Given the description of an element on the screen output the (x, y) to click on. 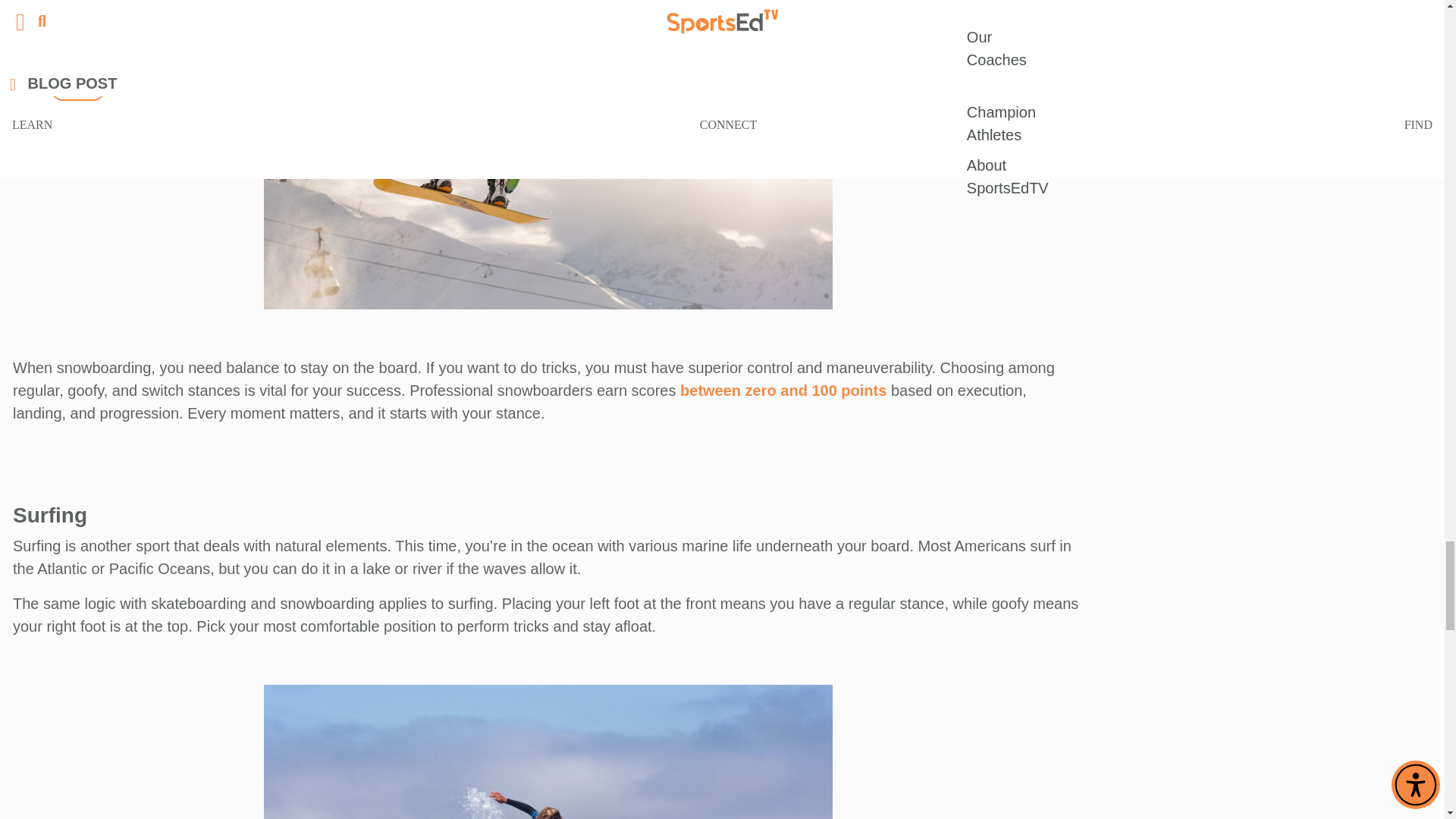
between zero and 100 points (782, 390)
